Given the description of an element on the screen output the (x, y) to click on. 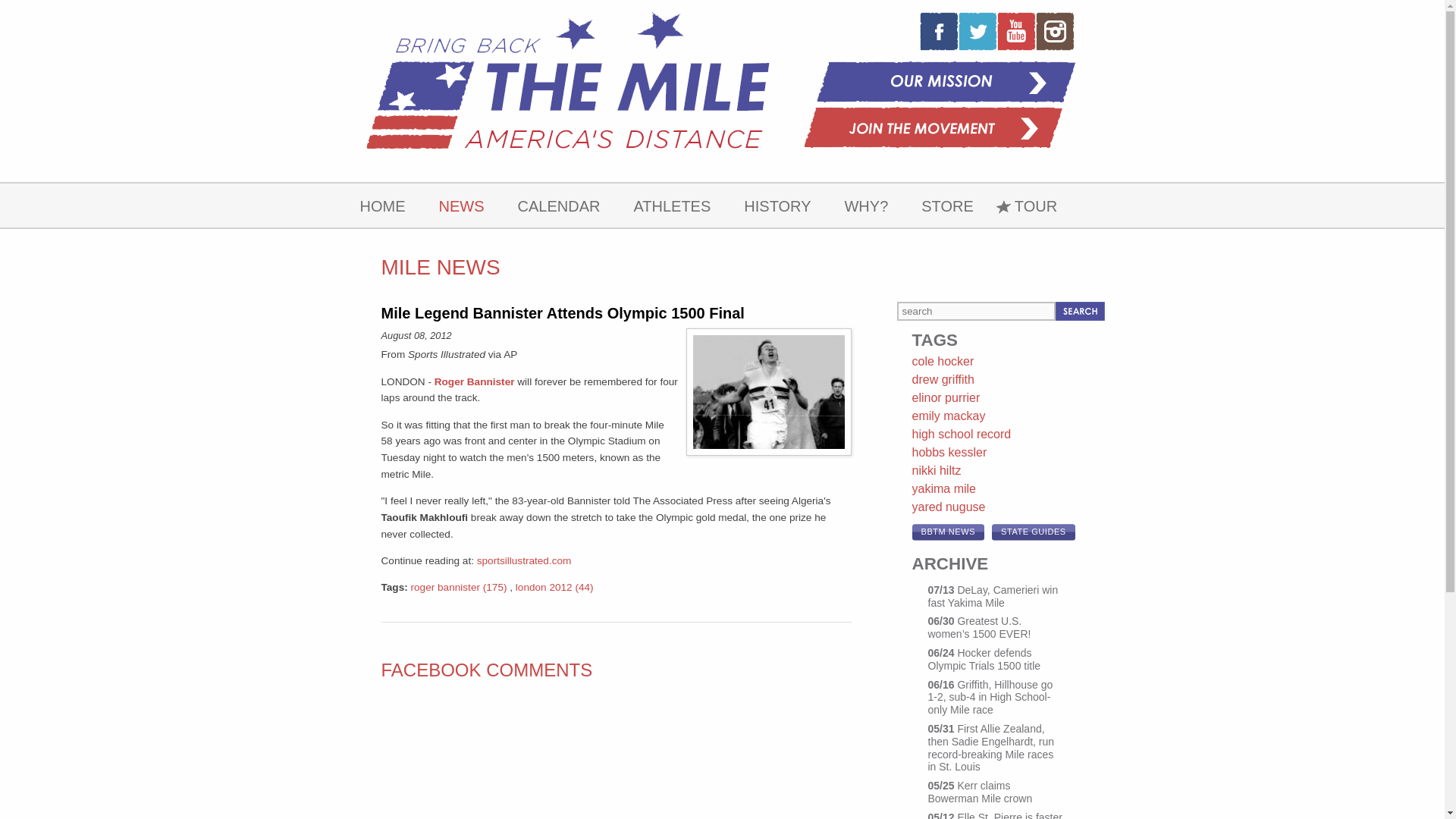
cole hocker (942, 360)
NEWS (461, 205)
yt (1015, 30)
STATE GUIDES (1033, 532)
emily mackay (948, 415)
high school record (960, 433)
yakima mile (943, 488)
drew griffith (942, 379)
emily mackay (948, 415)
WHY? (865, 205)
nikki hiltz (935, 470)
high school record (960, 433)
hobbs kessler (949, 451)
ig (1054, 30)
STORE (947, 205)
